Given the description of an element on the screen output the (x, y) to click on. 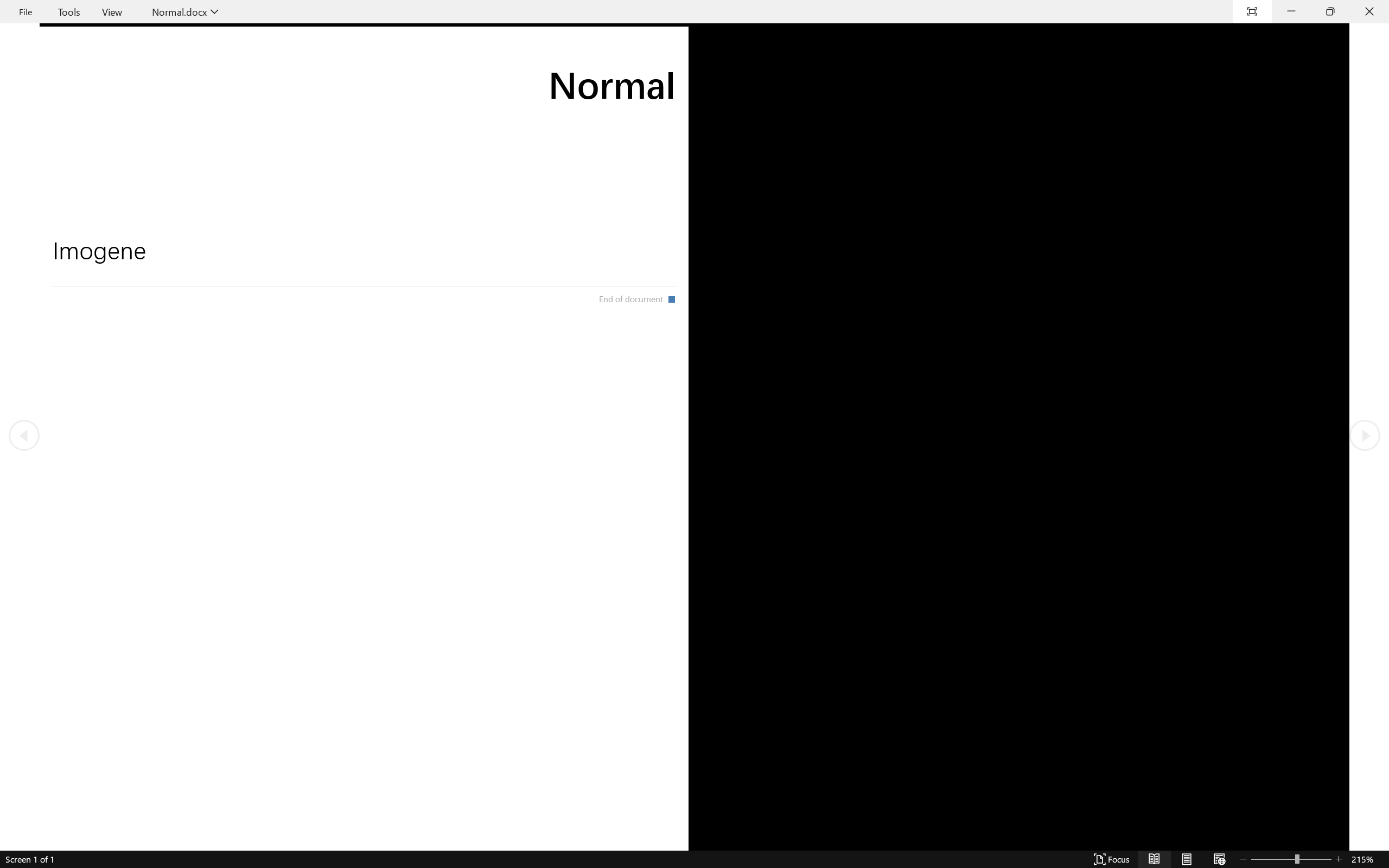
Convert to SmartArt (462, 77)
Freeform: Shape (518, 72)
Oval (572, 48)
Font... (319, 91)
Columns (406, 71)
Underline (199, 71)
Font Color Red (305, 71)
